Given the description of an element on the screen output the (x, y) to click on. 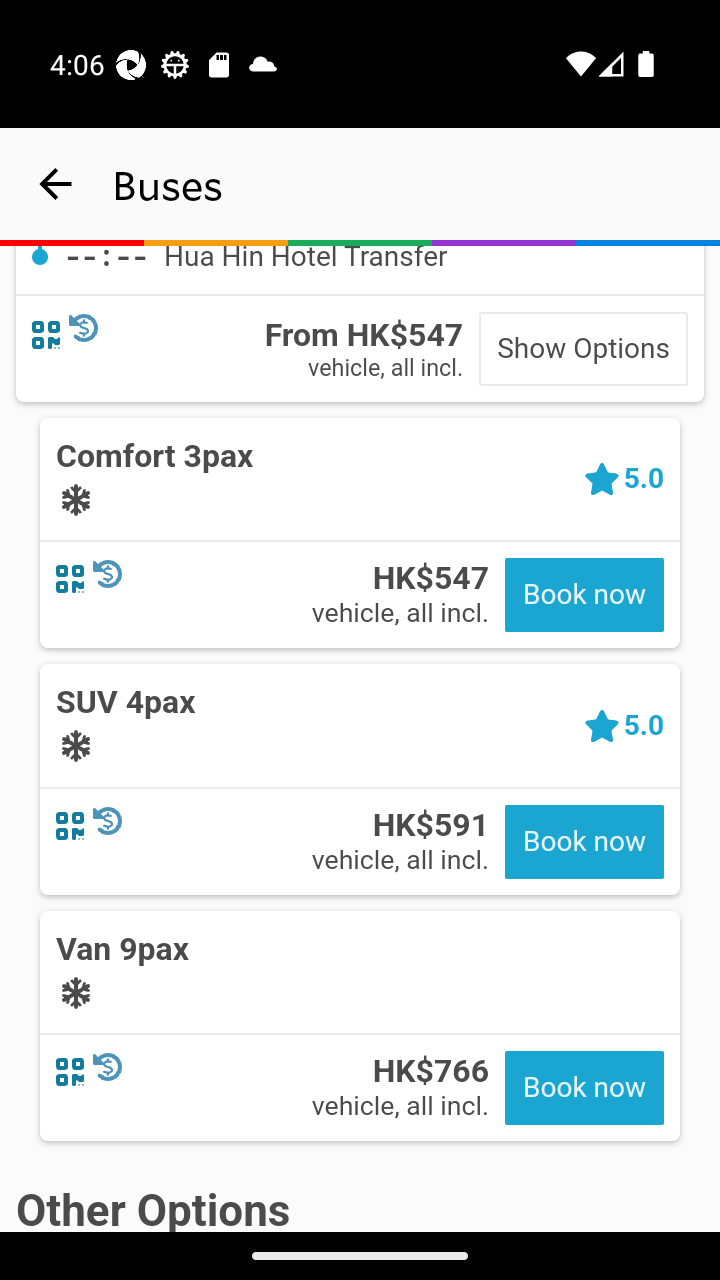
navigation_button (56, 184)
Show Options (583, 349)
